Given the description of an element on the screen output the (x, y) to click on. 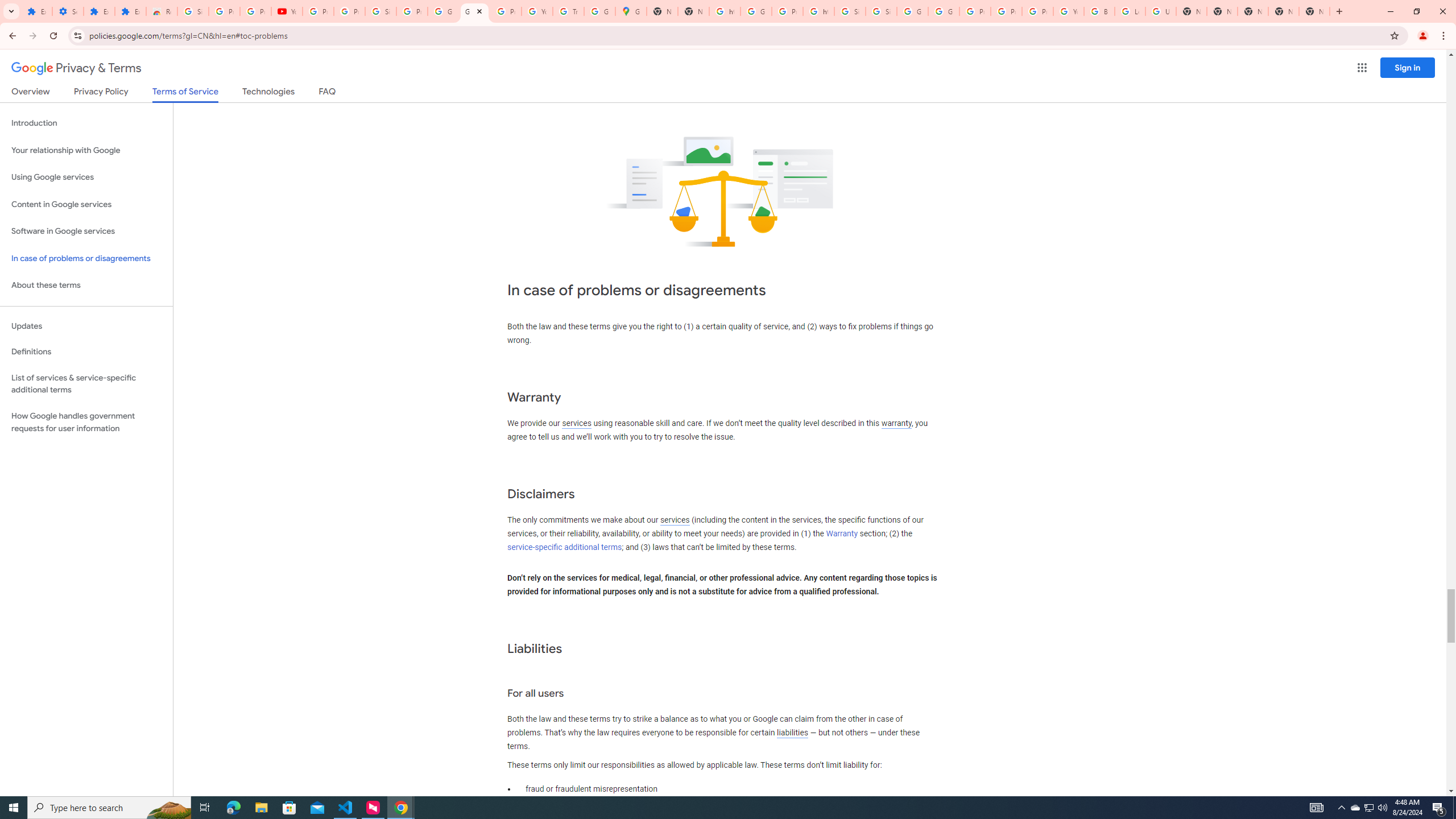
YouTube (536, 11)
Extensions (130, 11)
Extensions (98, 11)
Sign in - Google Accounts (849, 11)
